Given the description of an element on the screen output the (x, y) to click on. 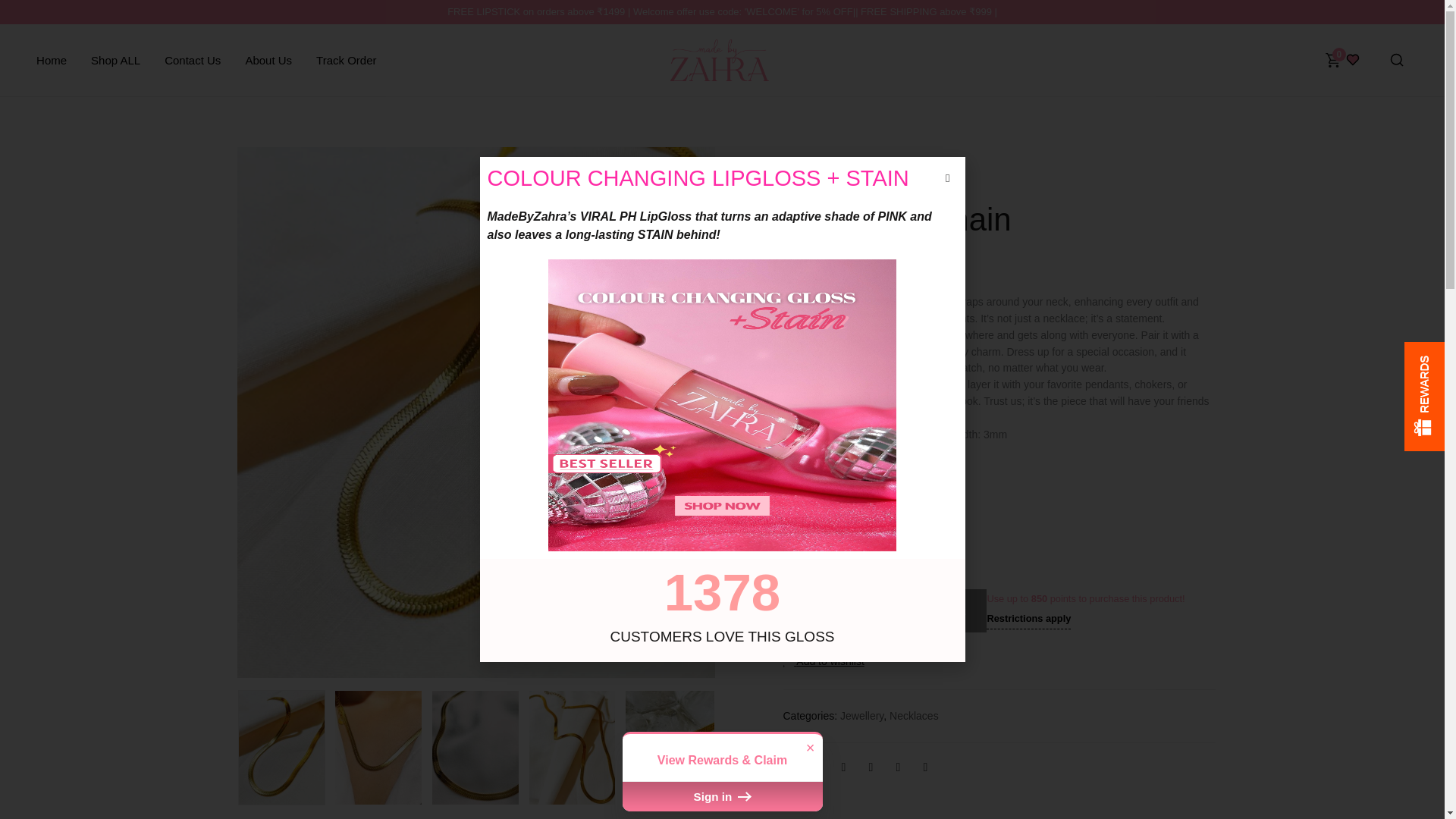
Shop ALL (114, 60)
Track Order (345, 60)
1 (831, 609)
Contact Us (192, 60)
About Us (268, 60)
Home (51, 60)
rzpAffordabilityMainFrame (998, 543)
